Given the description of an element on the screen output the (x, y) to click on. 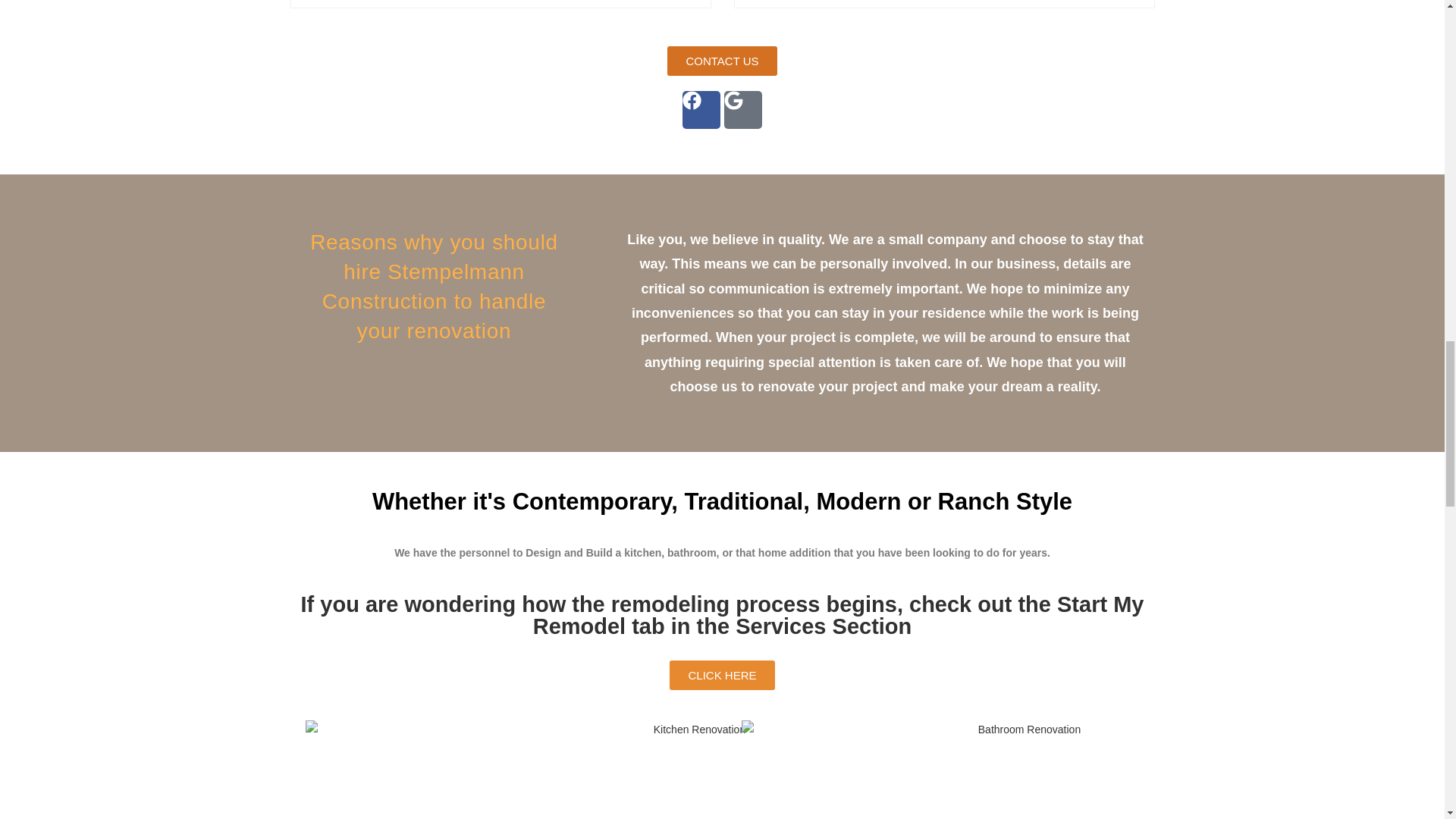
CLICK HERE (721, 675)
CONTACT US (721, 60)
